Given the description of an element on the screen output the (x, y) to click on. 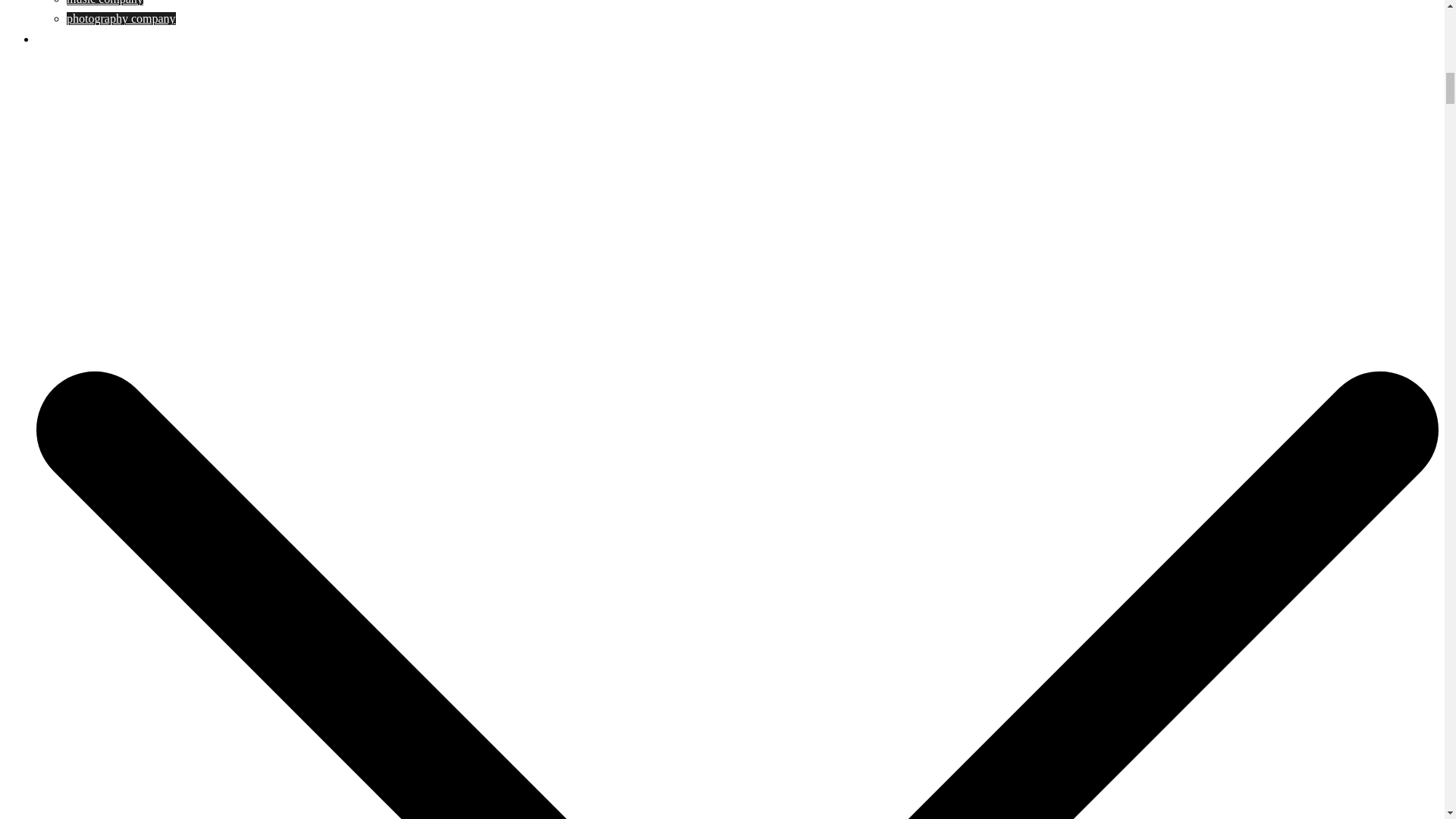
Entertainer (63, 38)
photography company (121, 18)
music company (104, 2)
